Given the description of an element on the screen output the (x, y) to click on. 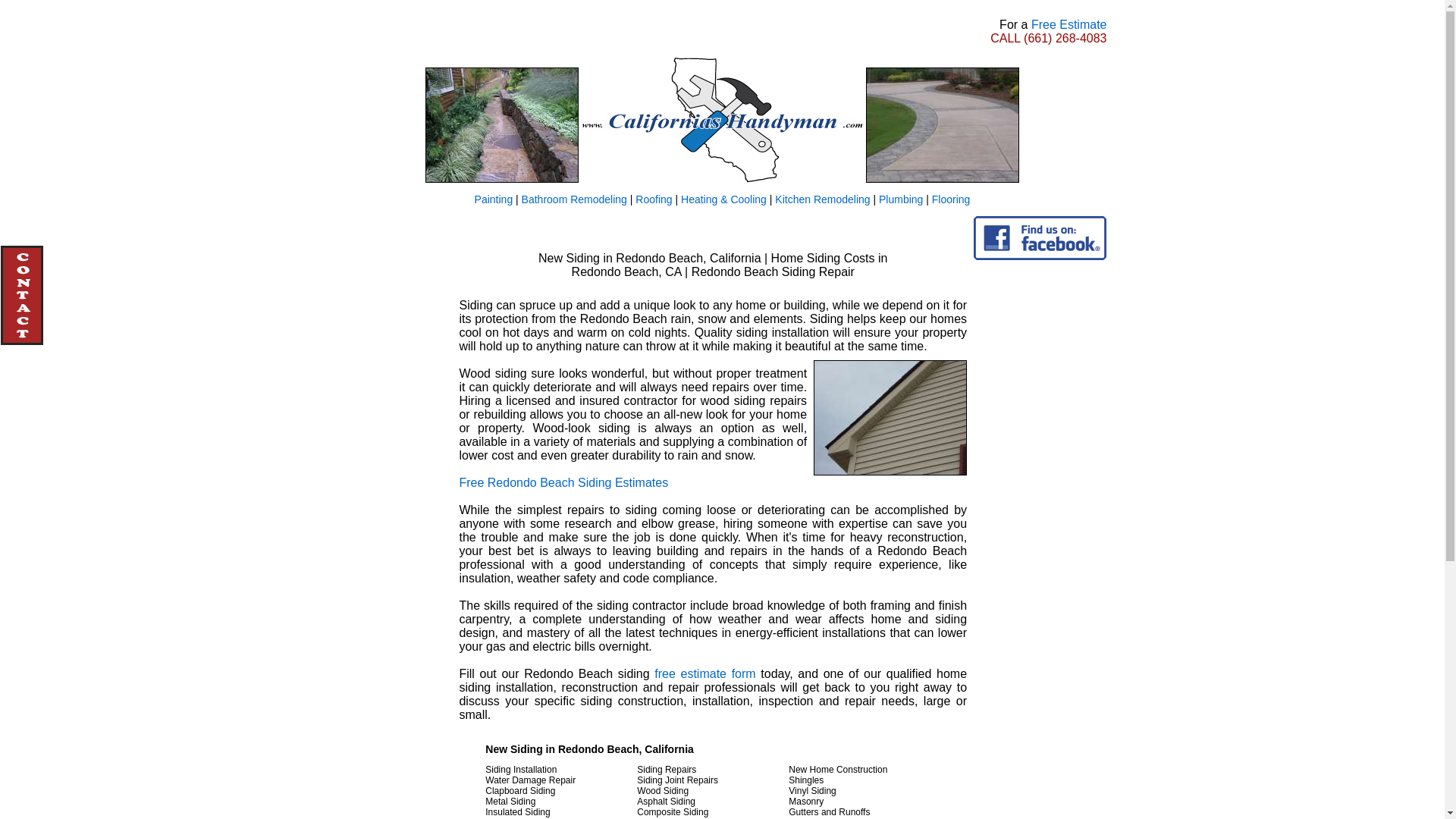
Free Redondo Beach Siding Estimates (563, 481)
Free Estimate (1068, 24)
Kitchen Remodeling (821, 199)
Plumbing (901, 199)
free estimate form (704, 673)
Painting (493, 199)
Roofing (652, 199)
Bathroom Remodeling (574, 199)
Flooring (951, 199)
